Given the description of an element on the screen output the (x, y) to click on. 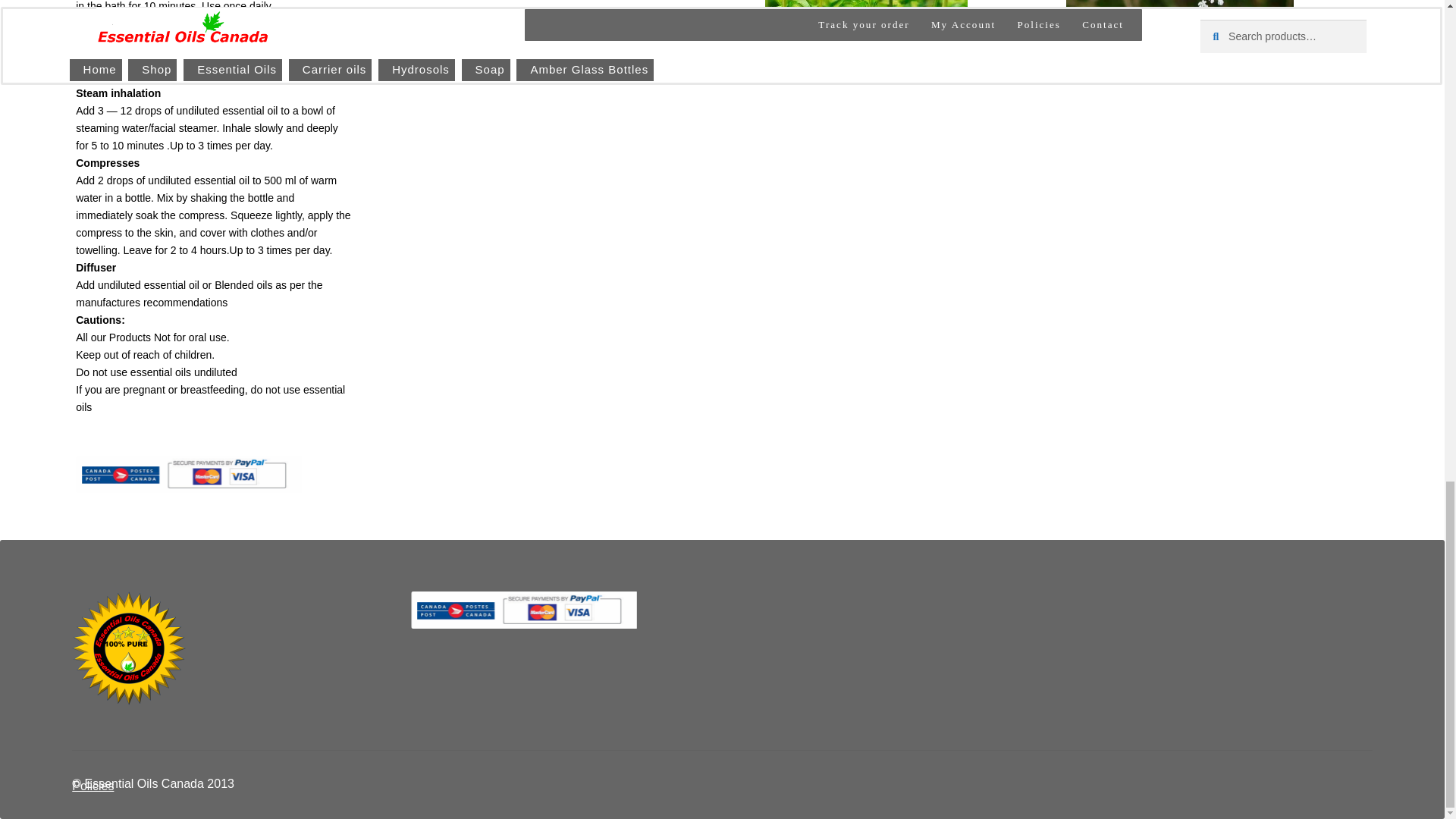
Clary Sage Essential Oil (866, 23)
Coriander Essential Oil (553, 11)
Carrot Seed Essential Oil (1180, 23)
Select options (865, 68)
Select options (552, 42)
